Given the description of an element on the screen output the (x, y) to click on. 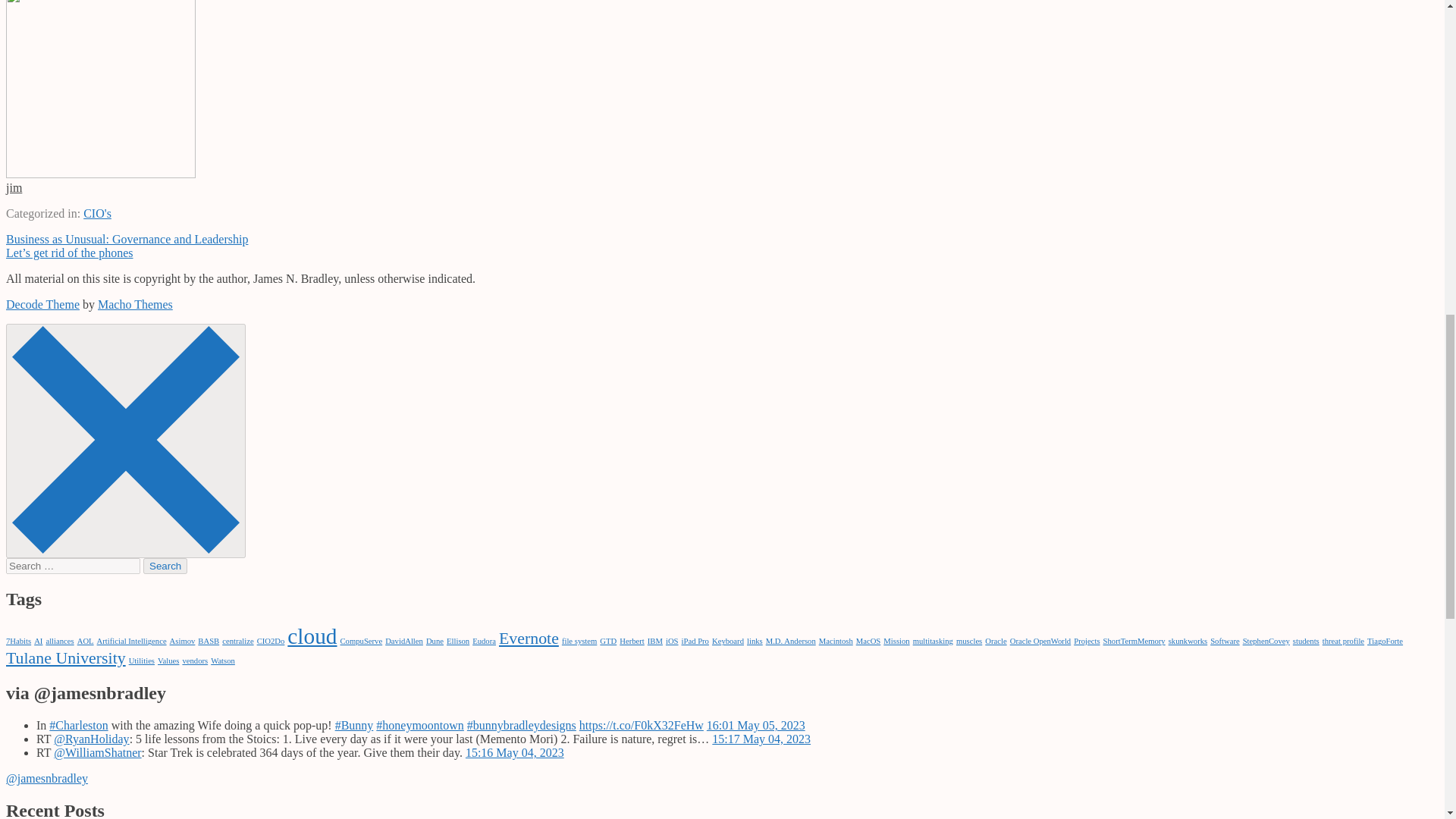
AI (37, 641)
file system (579, 641)
Macho Themes (135, 304)
Business as Unusual: Governance and Leadership (126, 238)
BASB (208, 641)
CIO2Do (271, 641)
7Habits (17, 641)
Dune (435, 641)
Decode Theme (42, 304)
Hide sidebar (125, 440)
